Given the description of an element on the screen output the (x, y) to click on. 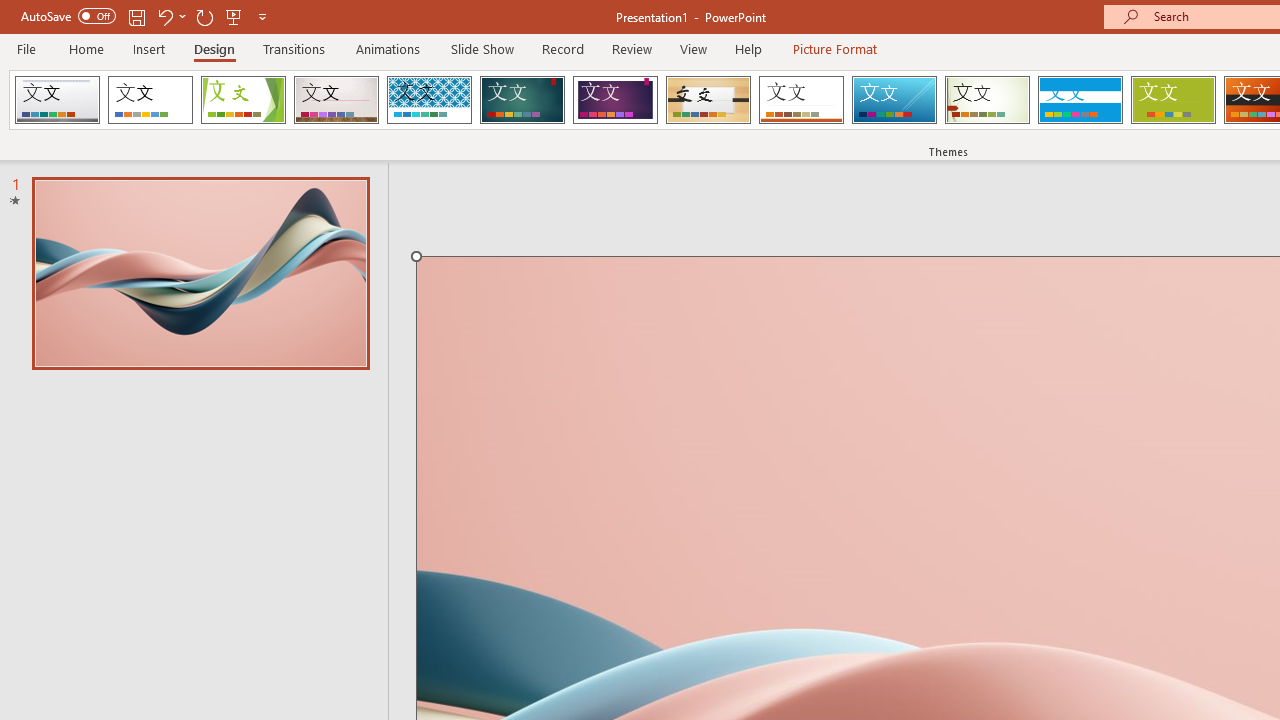
Picture Format (834, 48)
Retrospect (801, 100)
Ion Boardroom (615, 100)
Wisp (987, 100)
Integral (429, 100)
Organic (708, 100)
